Given the description of an element on the screen output the (x, y) to click on. 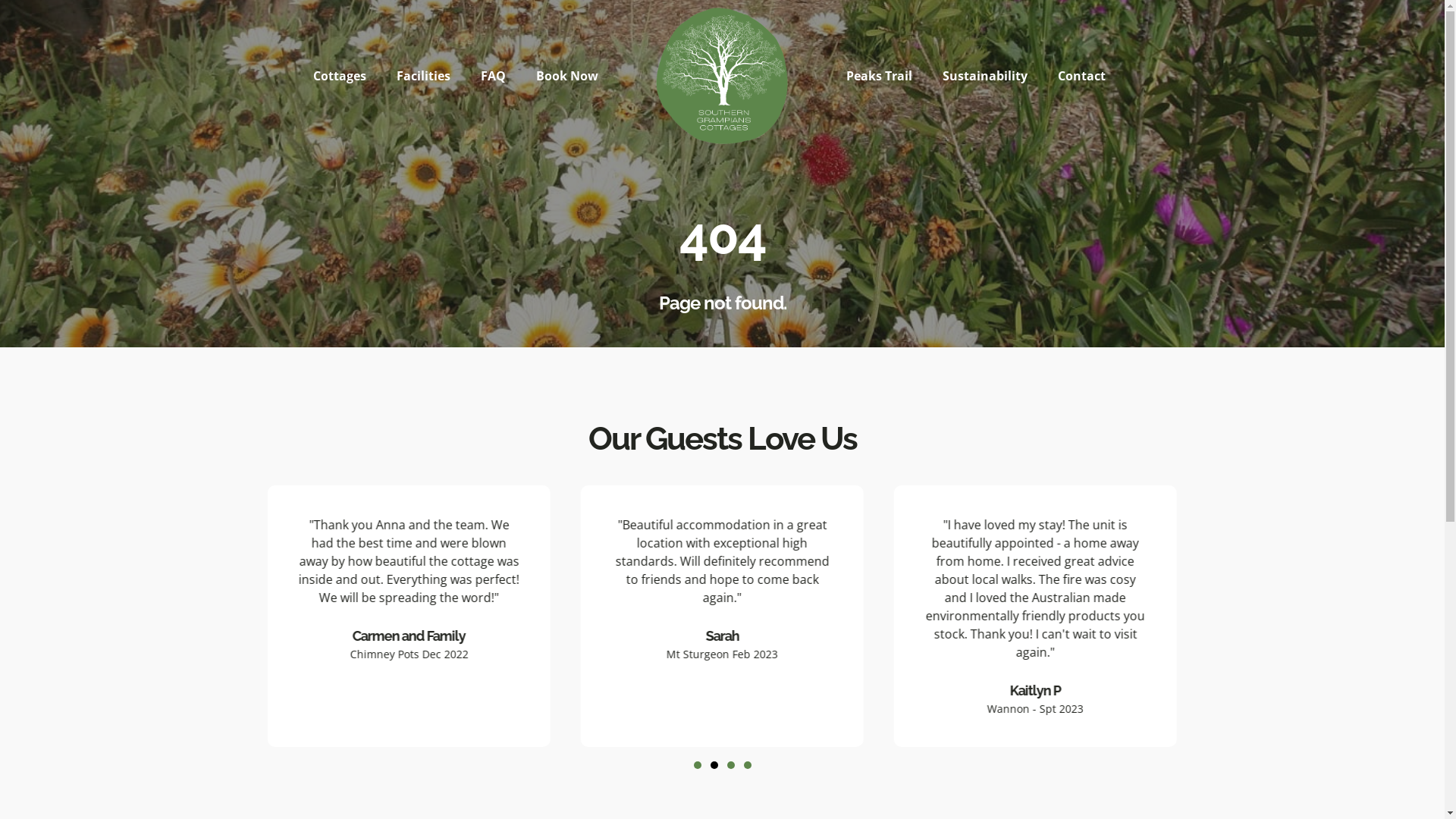
FAQ Element type: text (492, 75)
Sustainability Element type: text (984, 75)
Facilities Element type: text (423, 75)
Cottages Element type: text (339, 75)
Book Now Element type: text (567, 75)
Peaks Trail Element type: text (879, 75)
Contact Element type: text (1081, 75)
